Given the description of an element on the screen output the (x, y) to click on. 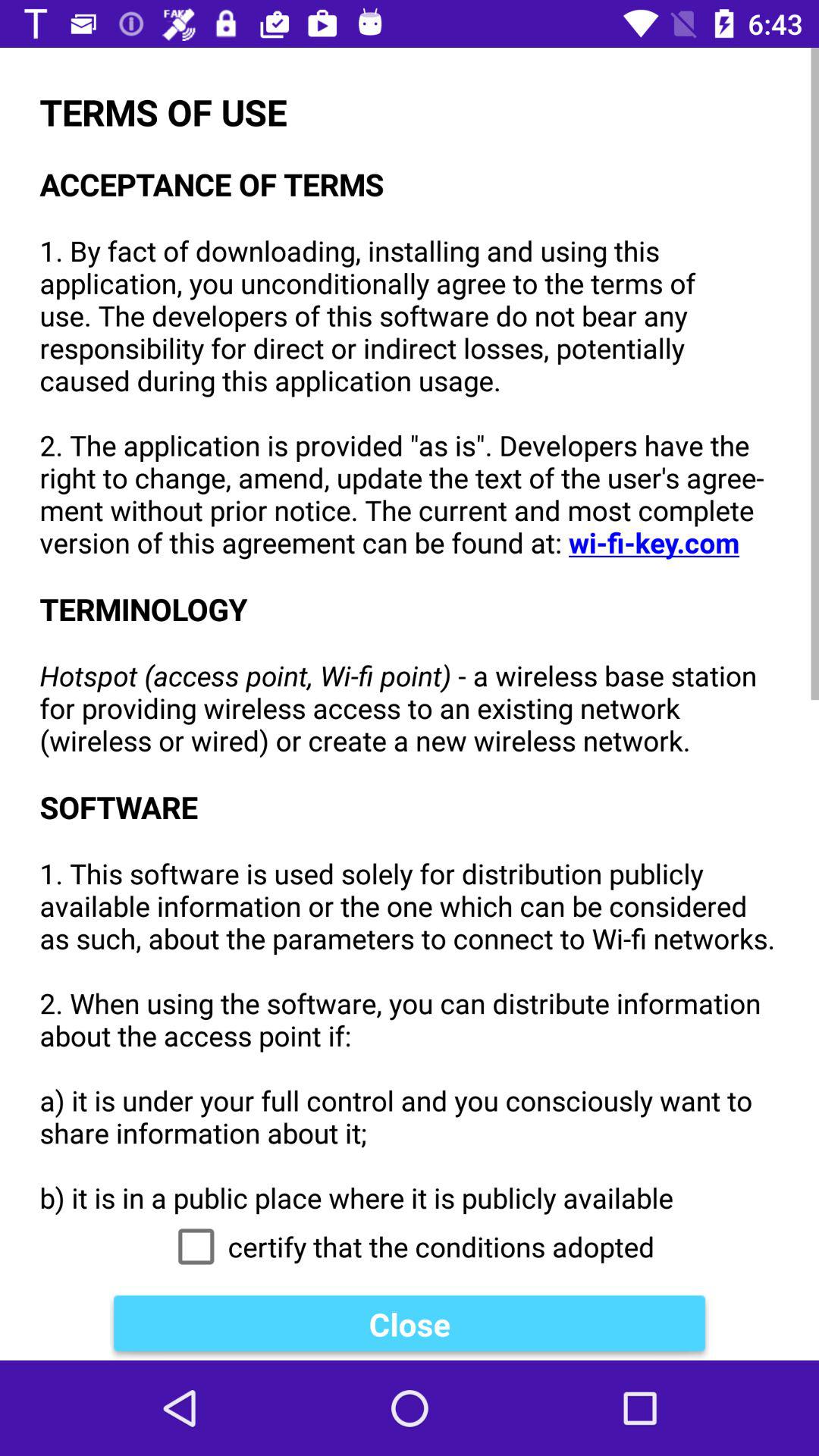
press icon below certify that the item (409, 1324)
